Given the description of an element on the screen output the (x, y) to click on. 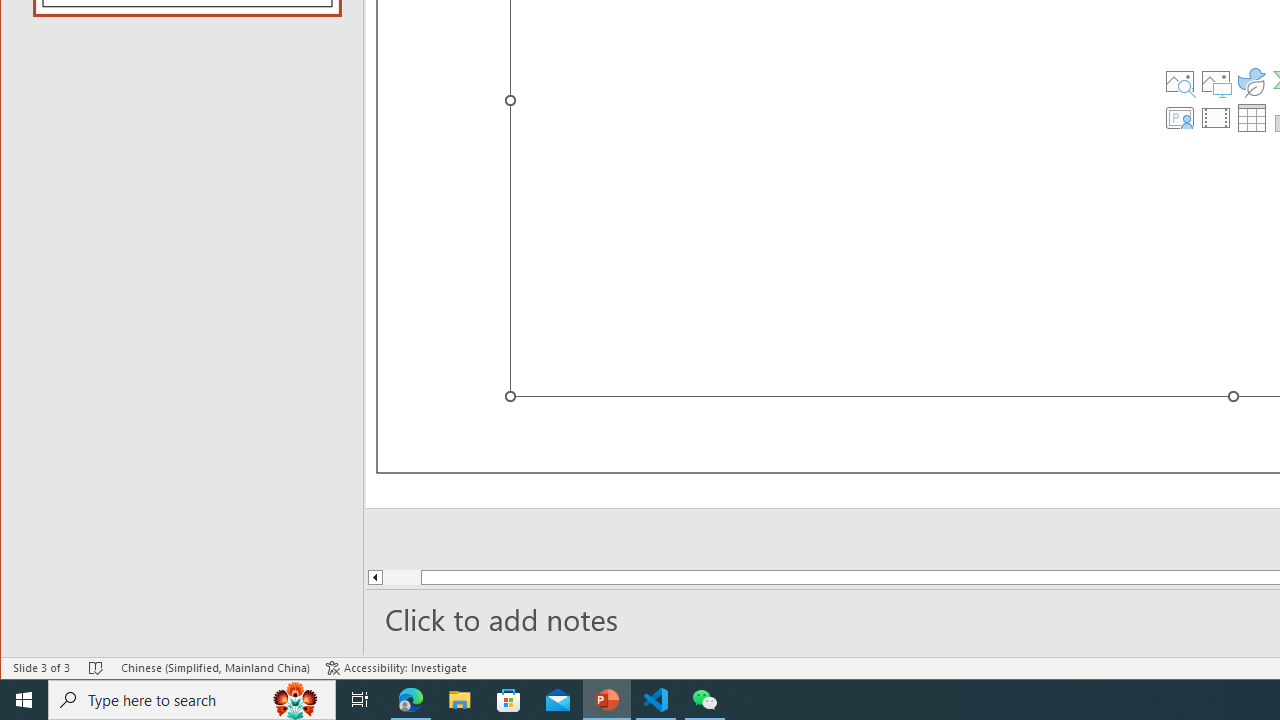
Line up (374, 577)
PowerPoint - 1 running window (607, 699)
Insert Table (1252, 117)
Task View (359, 699)
Accessibility Checker Accessibility: Investigate (395, 668)
Type here to search (191, 699)
WeChat - 1 running window (704, 699)
Pictures (1215, 81)
Insert an Icon (1252, 81)
File Explorer (460, 699)
Search highlights icon opens search home window (295, 699)
Stock Images (1179, 81)
Insert Cameo (1179, 117)
Insert Video (1215, 117)
